Given the description of an element on the screen output the (x, y) to click on. 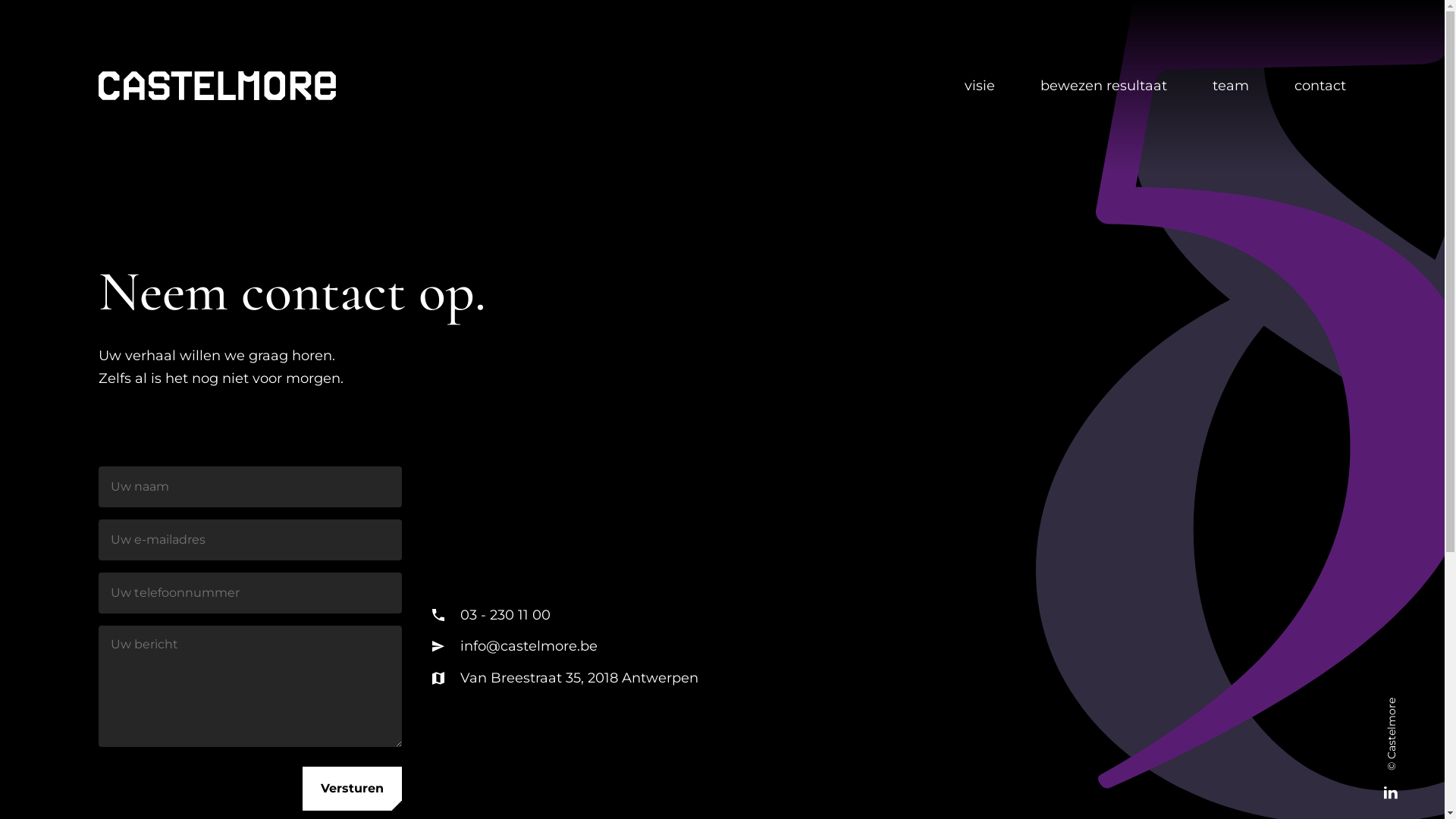
03 - 230 11 00 Element type: text (565, 614)
contact Element type: text (1320, 85)
Versturen Element type: text (351, 788)
team Element type: text (1230, 85)
visie Element type: text (979, 85)
bewezen resultaat Element type: text (1103, 85)
info@castelmore.be Element type: text (565, 645)
Van Breestraat 35, 2018 Antwerpen Element type: text (565, 677)
